Given the description of an element on the screen output the (x, y) to click on. 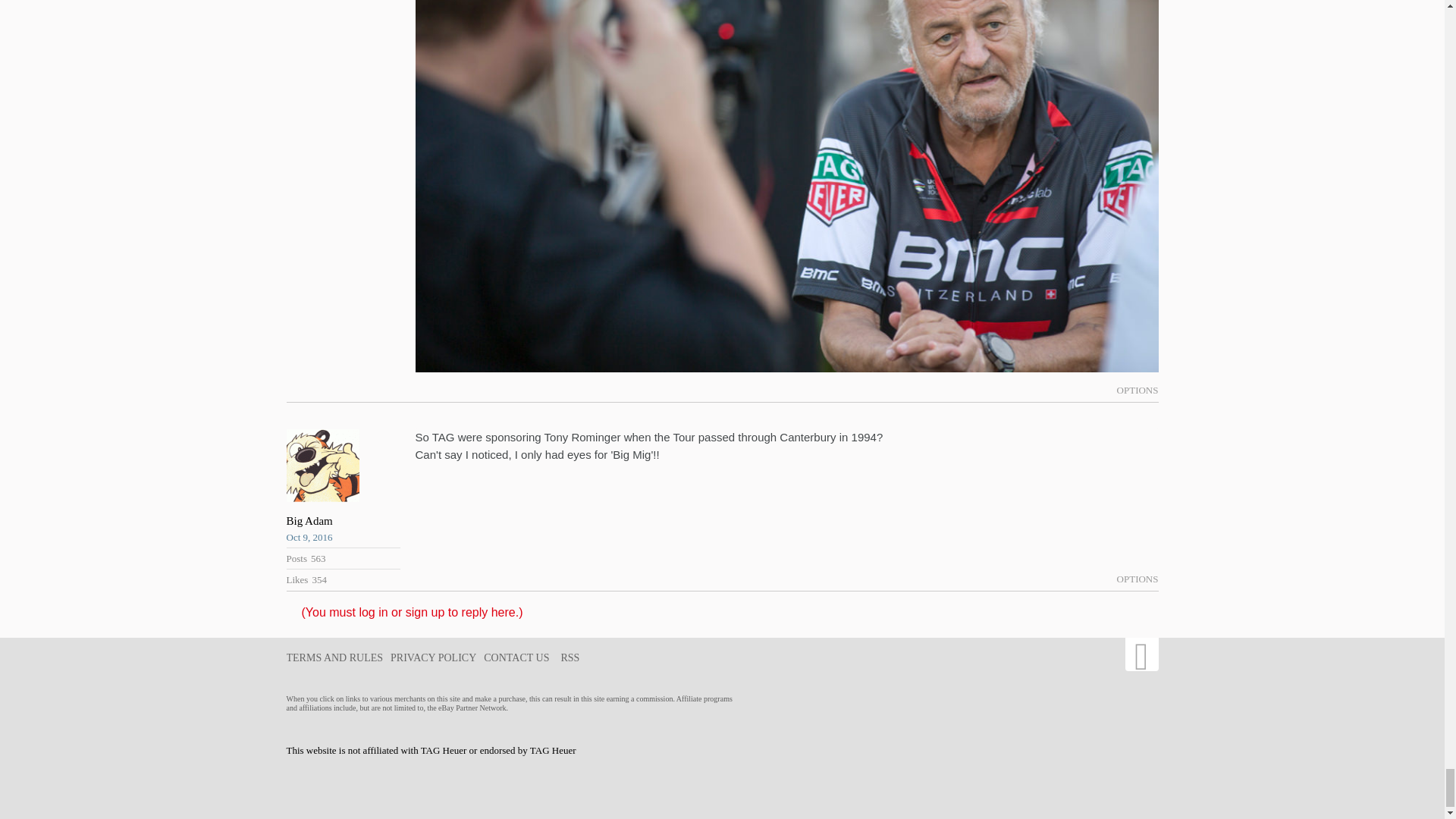
Oct 9, 2016 2:07am (343, 537)
